Given the description of an element on the screen output the (x, y) to click on. 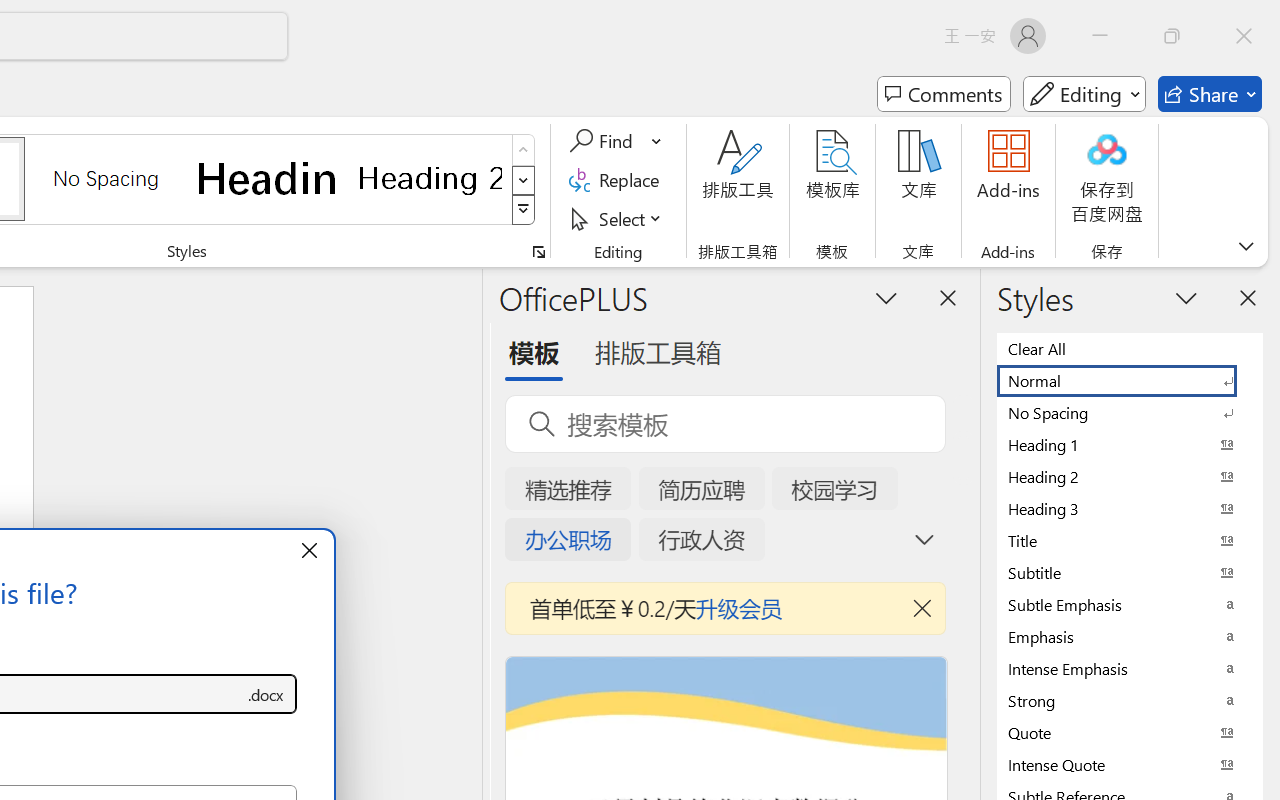
Heading 2 (429, 178)
More Options (657, 141)
Heading 3 (1130, 508)
Task Pane Options (886, 297)
Clear All (1130, 348)
Normal (1130, 380)
Quote (1130, 732)
